Given the description of an element on the screen output the (x, y) to click on. 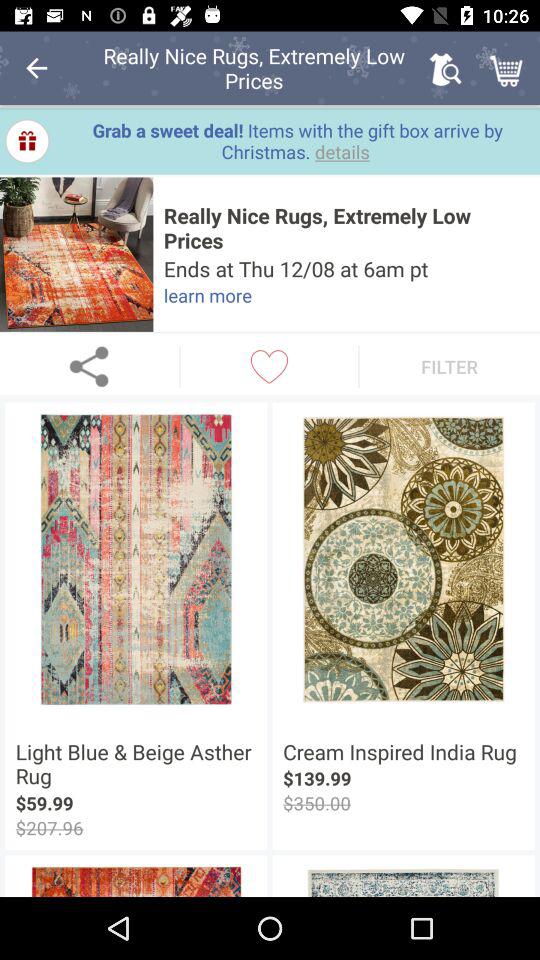
launch the icon to the right of really nice rugs icon (444, 67)
